Given the description of an element on the screen output the (x, y) to click on. 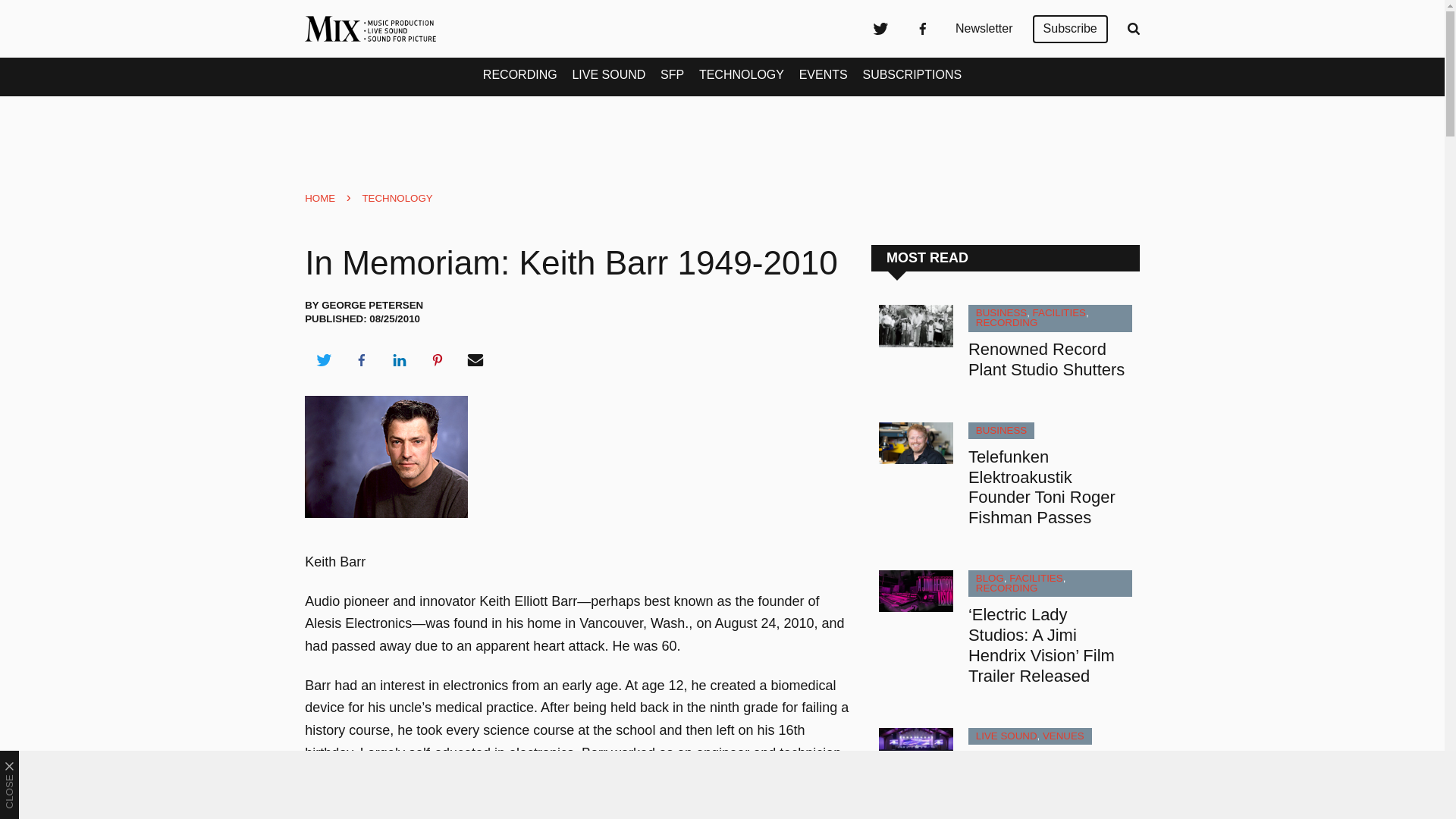
Share on Twitter (323, 360)
Share via Email (476, 360)
Share on LinkedIn (399, 360)
Share on Facebook (361, 360)
Share on Pinterest (438, 360)
